Given the description of an element on the screen output the (x, y) to click on. 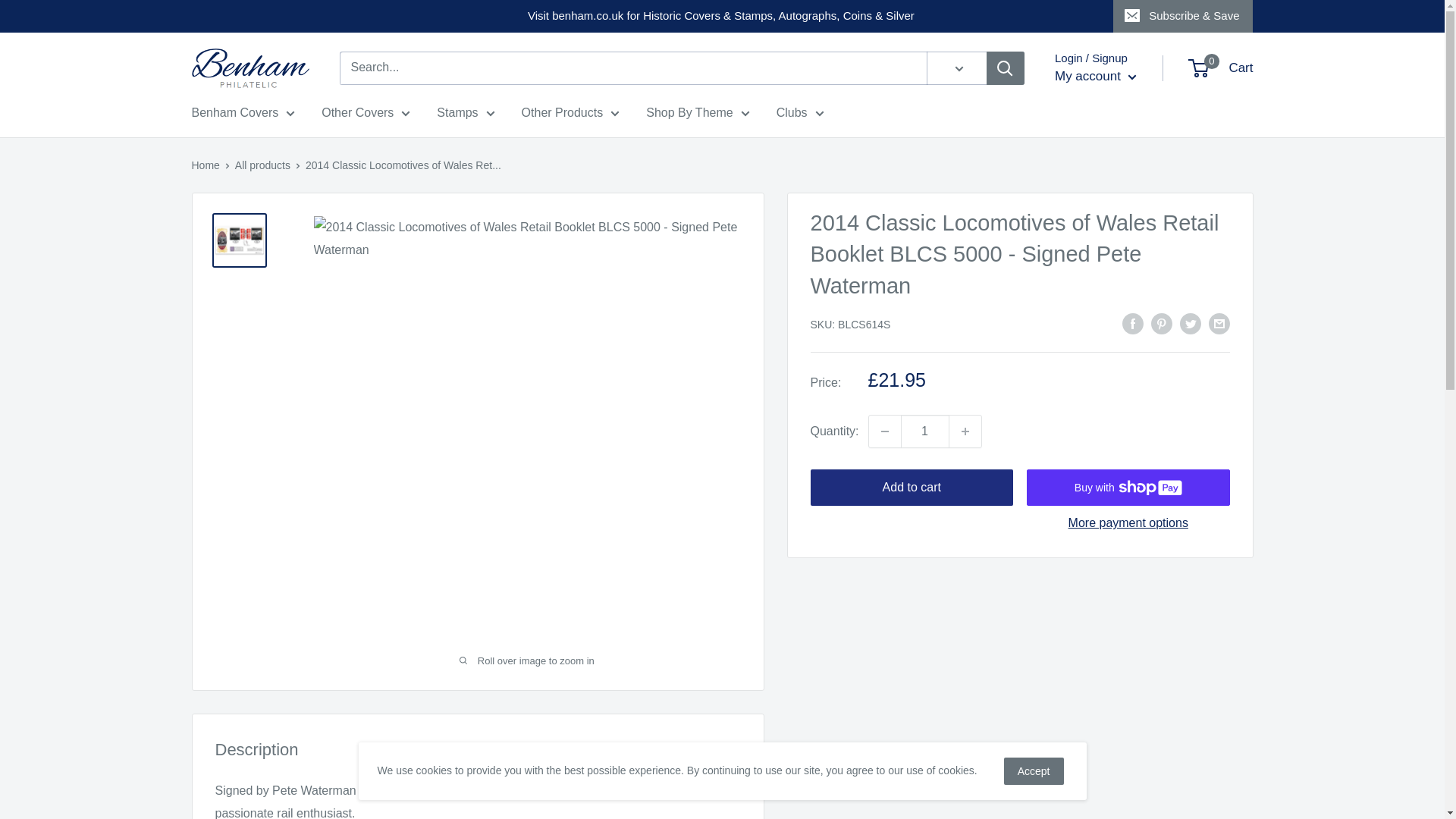
1 (925, 431)
Decrease quantity by 1 (885, 431)
Increase quantity by 1 (965, 431)
